Given the description of an element on the screen output the (x, y) to click on. 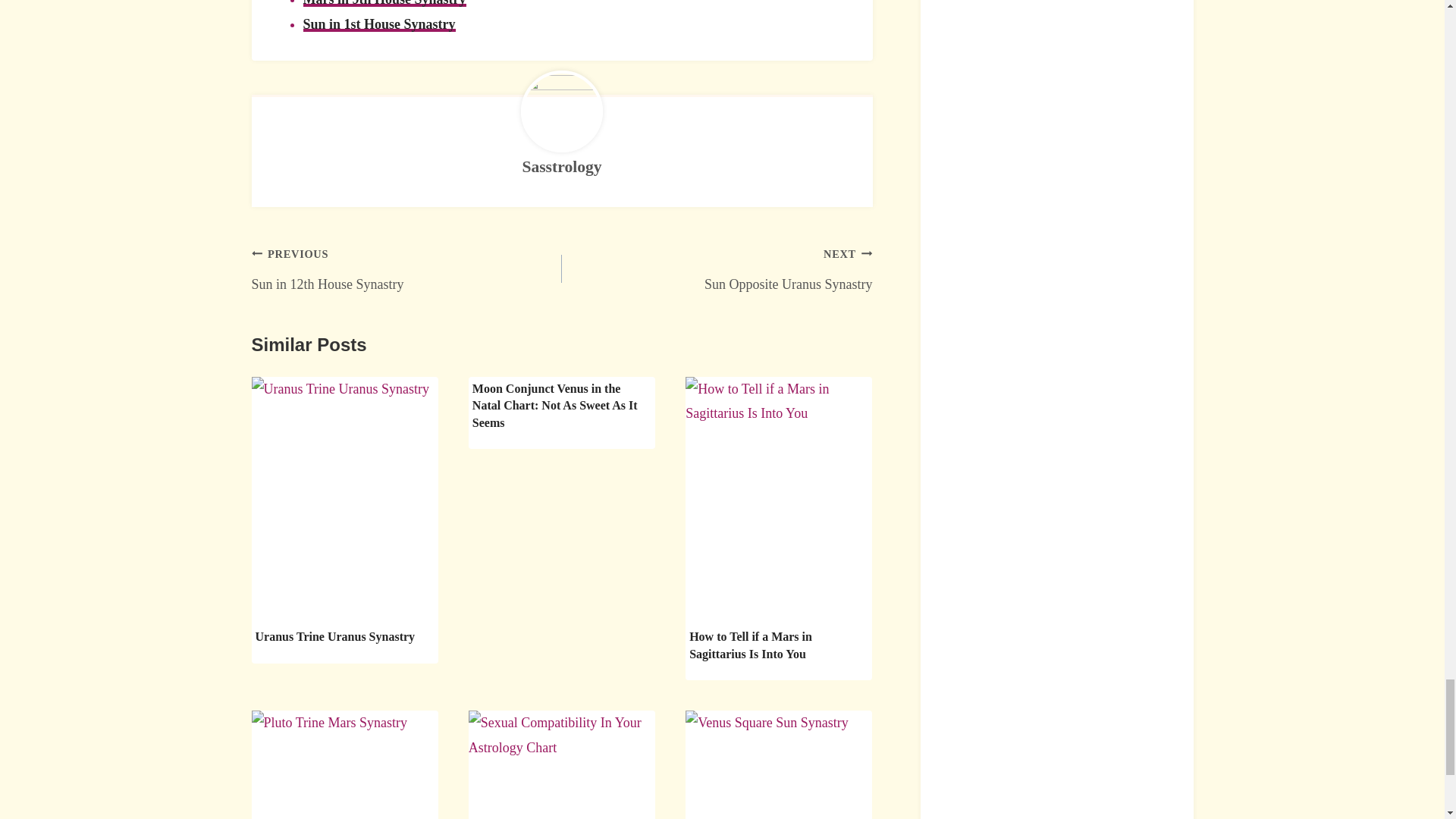
Uranus Trine Uranus Synastry (334, 635)
Posts by Sasstrology (717, 268)
Sasstrology (406, 268)
Mars in 9th House Synastry (561, 167)
Sun in 1st House Synastry (561, 167)
